Given the description of an element on the screen output the (x, y) to click on. 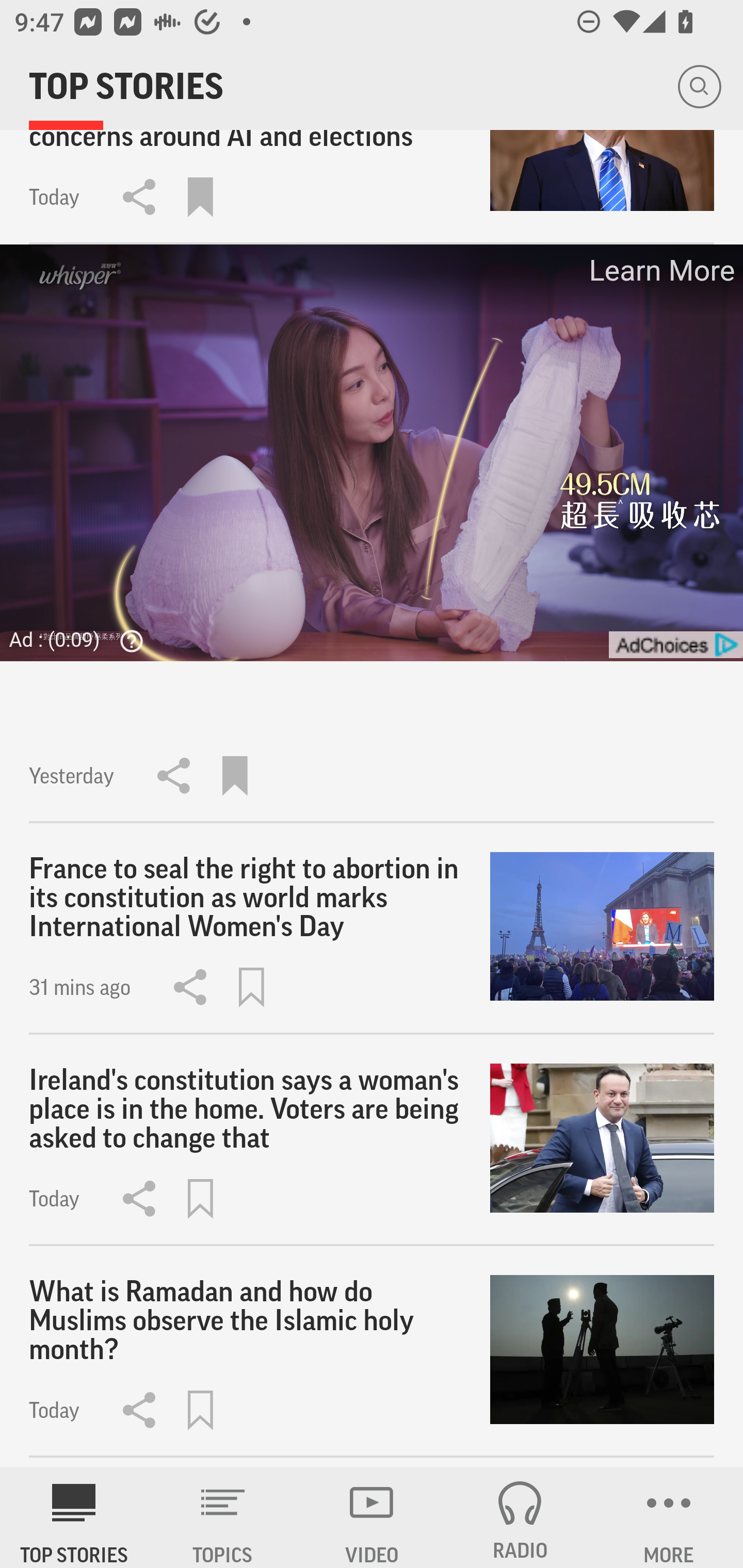
Learn More (660, 270)
Ad : (0:09) Why This Ad? (82, 638)
Why This Ad? (126, 640)
get?name=admarker-full-tl (675, 645)
AP News TOP STORIES (74, 1517)
TOPICS (222, 1517)
VIDEO (371, 1517)
RADIO (519, 1517)
MORE (668, 1517)
